Given the description of an element on the screen output the (x, y) to click on. 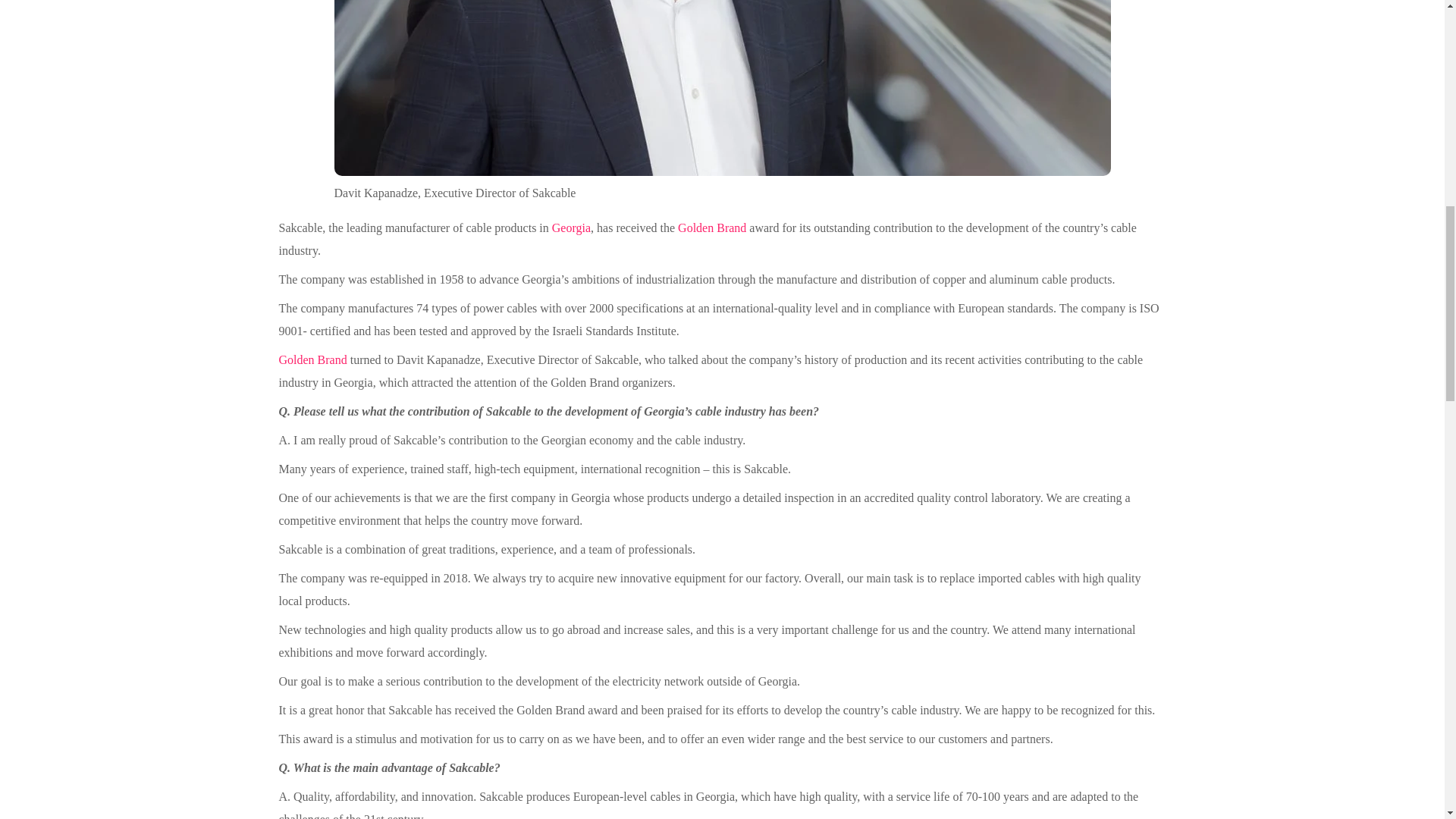
Georgia (571, 227)
Winner (711, 227)
Winner (313, 359)
